Given the description of an element on the screen output the (x, y) to click on. 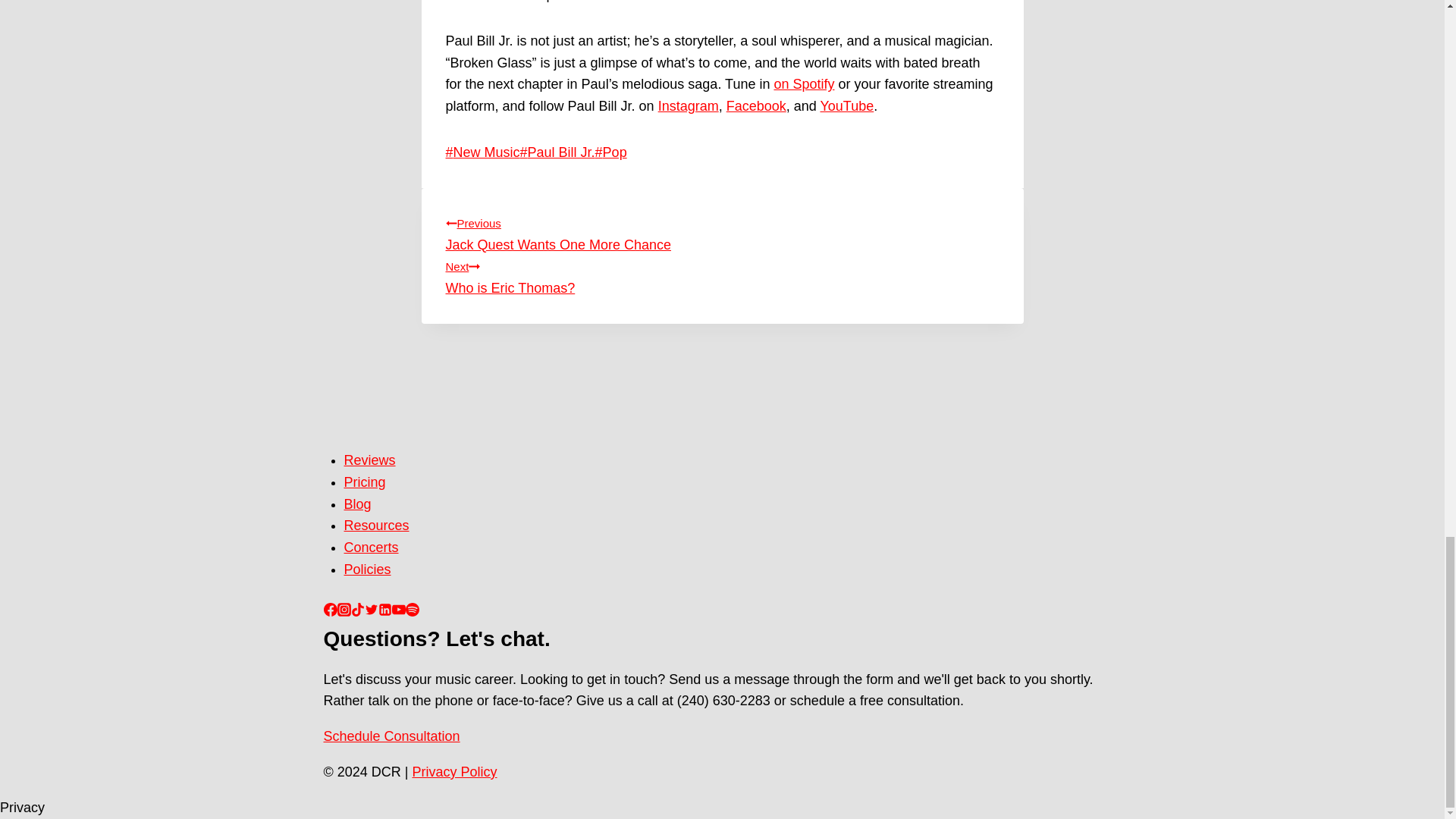
Policies (367, 569)
Pop (611, 151)
New Music (482, 151)
Resources (721, 275)
Instagram (376, 525)
YouTube (688, 105)
Pricing (846, 105)
on Spotify (364, 482)
Reviews (803, 83)
Facebook (369, 459)
Paul Bill Jr. (721, 232)
Blog (756, 105)
Concerts (557, 151)
